Given the description of an element on the screen output the (x, y) to click on. 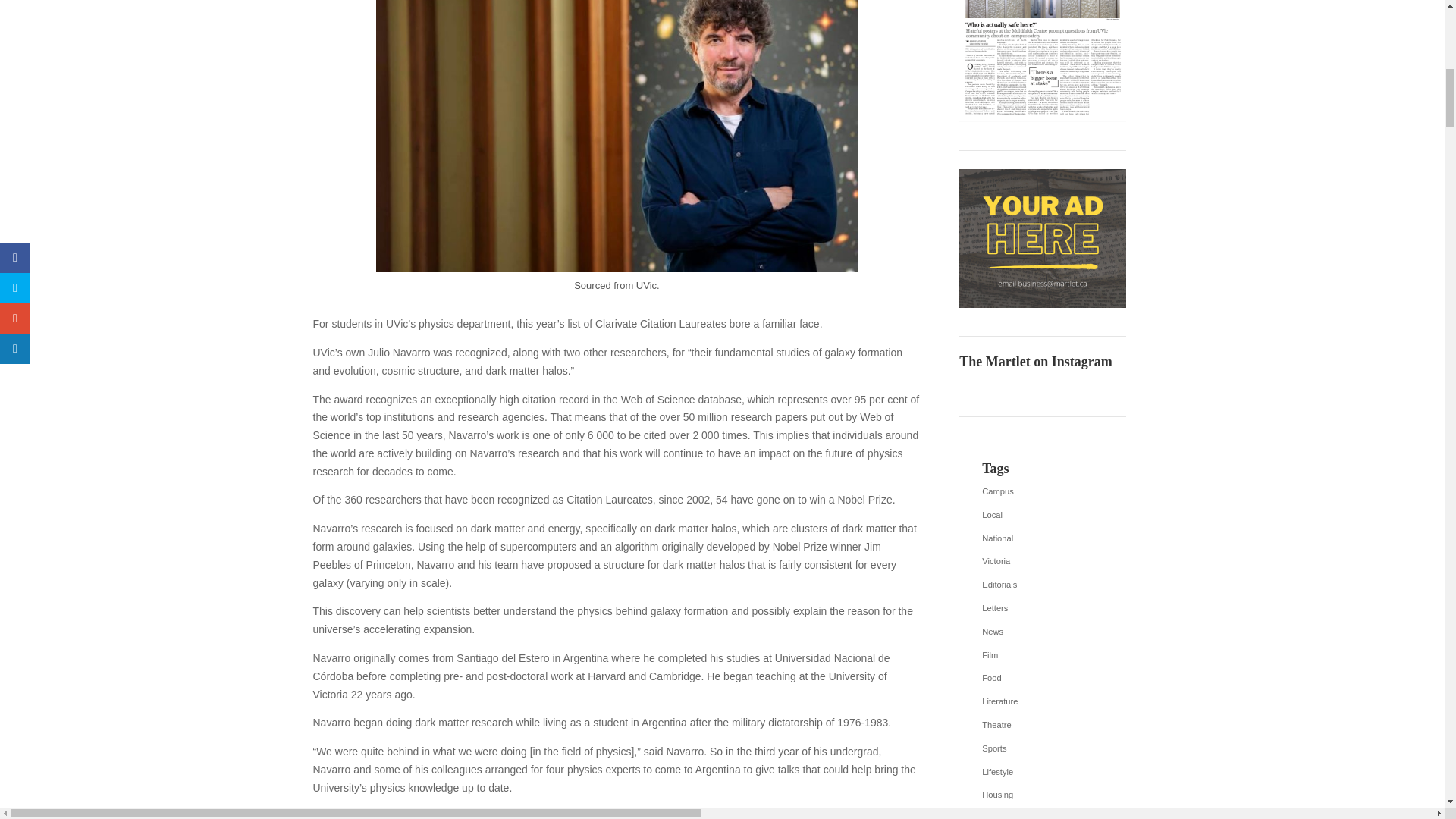
Lifestyle (1042, 772)
Letters (1042, 608)
Food (1042, 678)
Film (1042, 656)
News (1042, 632)
Sports (1042, 749)
Editorials (1042, 585)
Our Digital Print Issue (1042, 61)
Local (1042, 515)
Victoria (1042, 561)
